Given the description of an element on the screen output the (x, y) to click on. 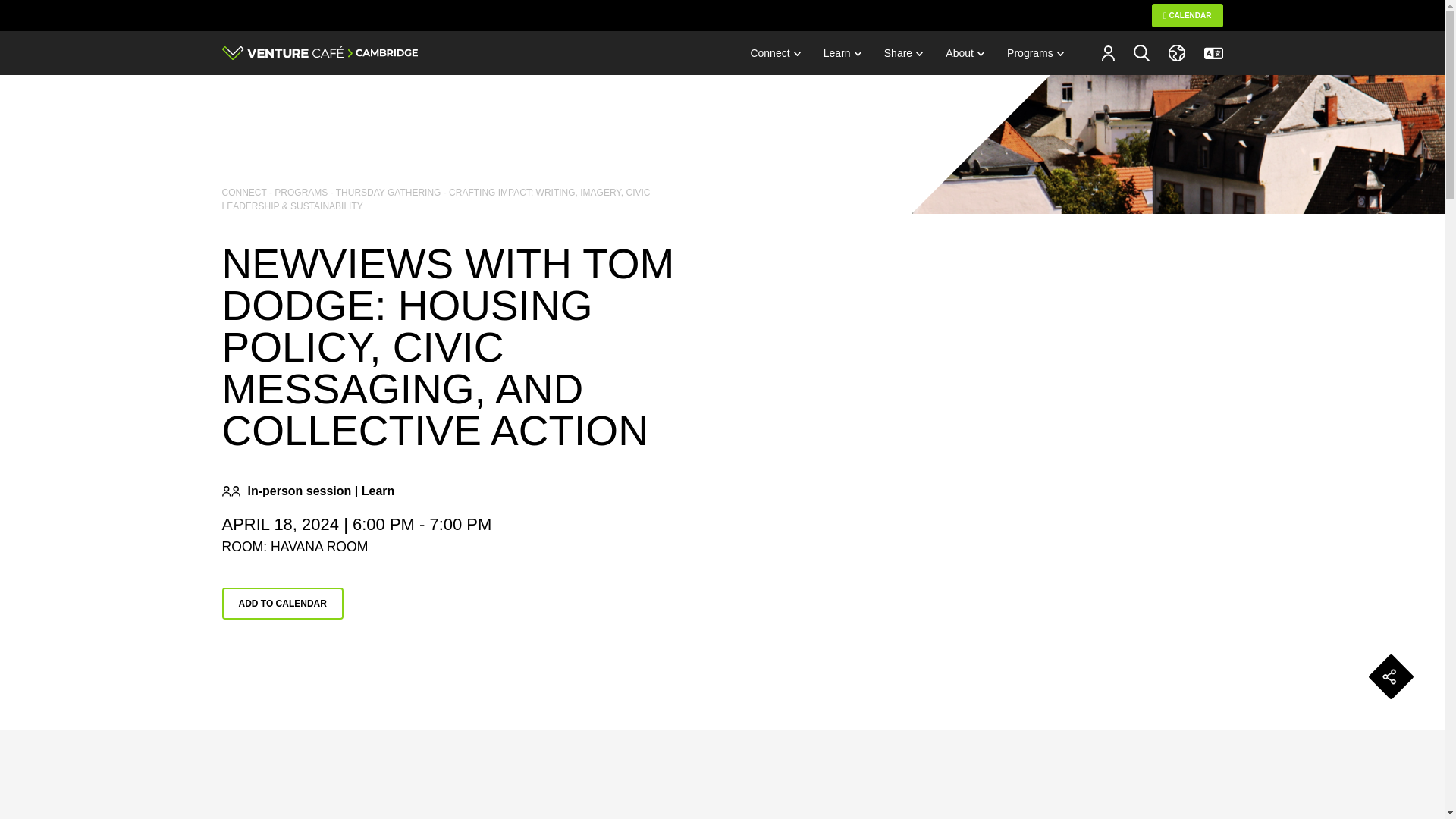
Search (1141, 52)
Share (903, 53)
Connect (774, 53)
CALENDAR (1187, 15)
Programs (1035, 53)
